Given the description of an element on the screen output the (x, y) to click on. 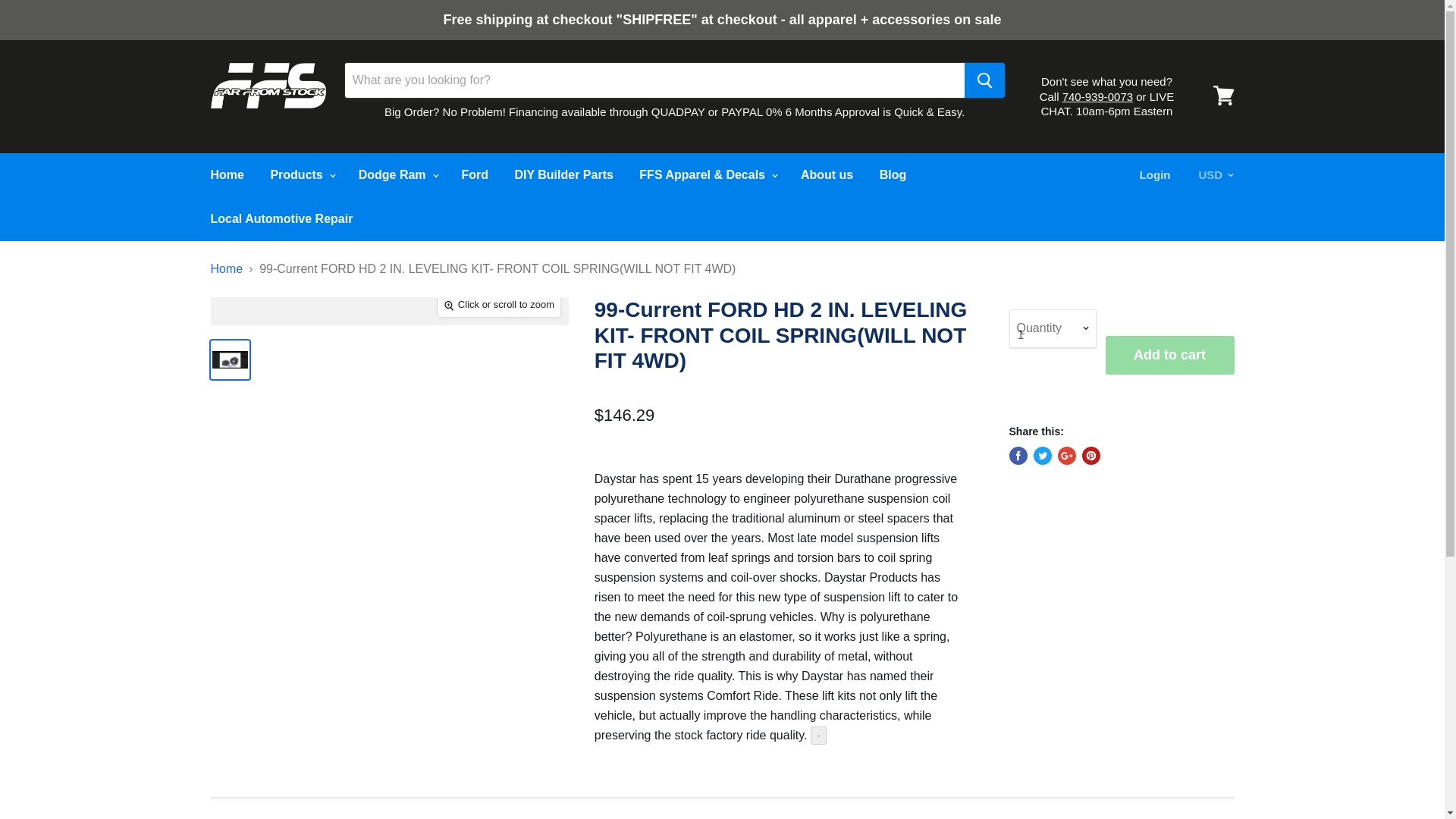
View cart (1223, 95)
tel:740-939-0073 (1097, 96)
Home (226, 174)
Products (301, 174)
740-939-0073 (1097, 96)
